Given the description of an element on the screen output the (x, y) to click on. 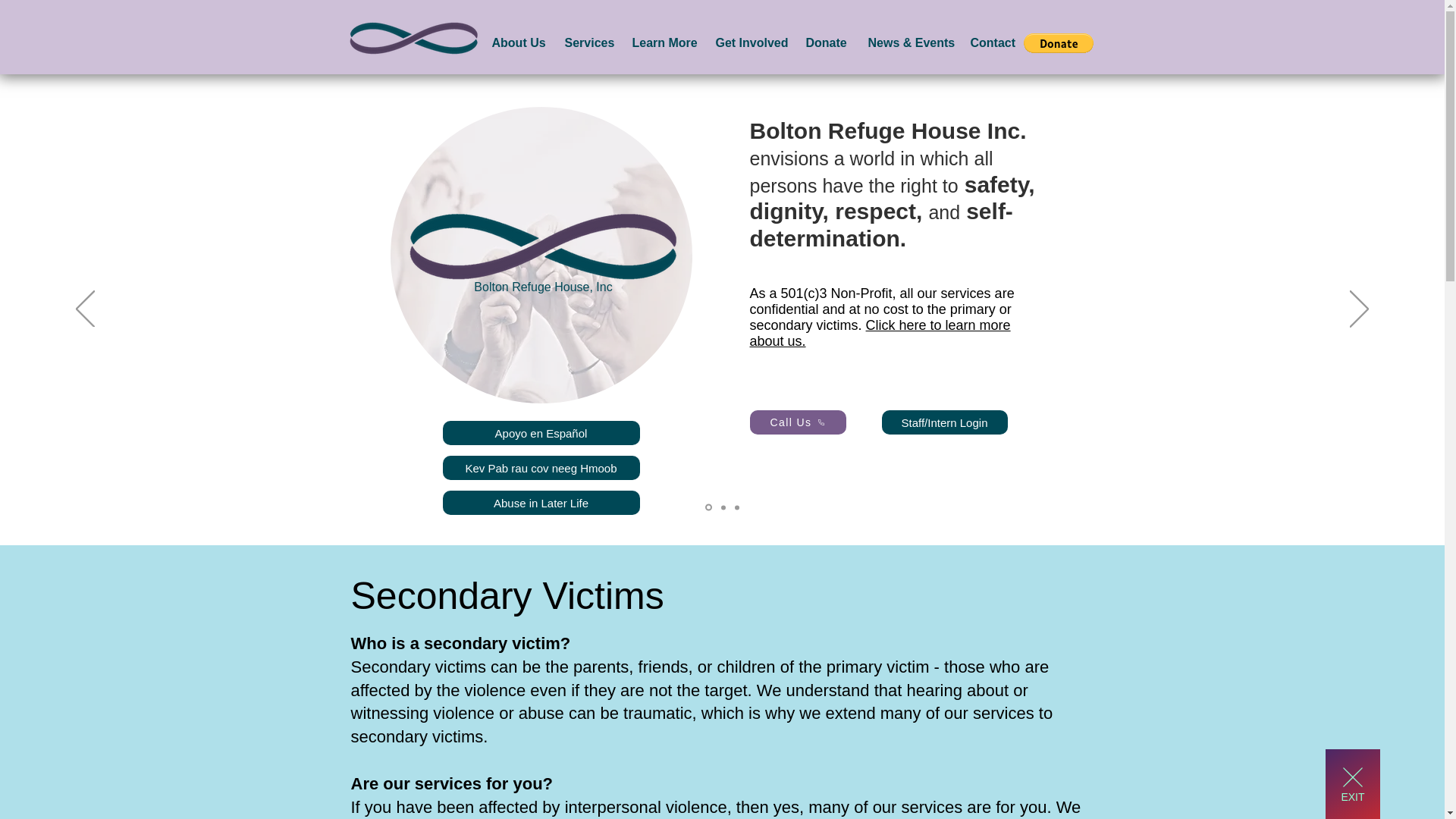
logo.png (411, 37)
Services (587, 43)
Click here to learn more about us. (879, 332)
Donate (825, 43)
Learn More (661, 43)
Get Involved (748, 43)
Abuse in Later Life (541, 502)
Call Us (797, 422)
Kev Pab rau cov neeg Hmoob (541, 467)
About Us (516, 43)
Contact (990, 43)
logo.png (543, 245)
